Given the description of an element on the screen output the (x, y) to click on. 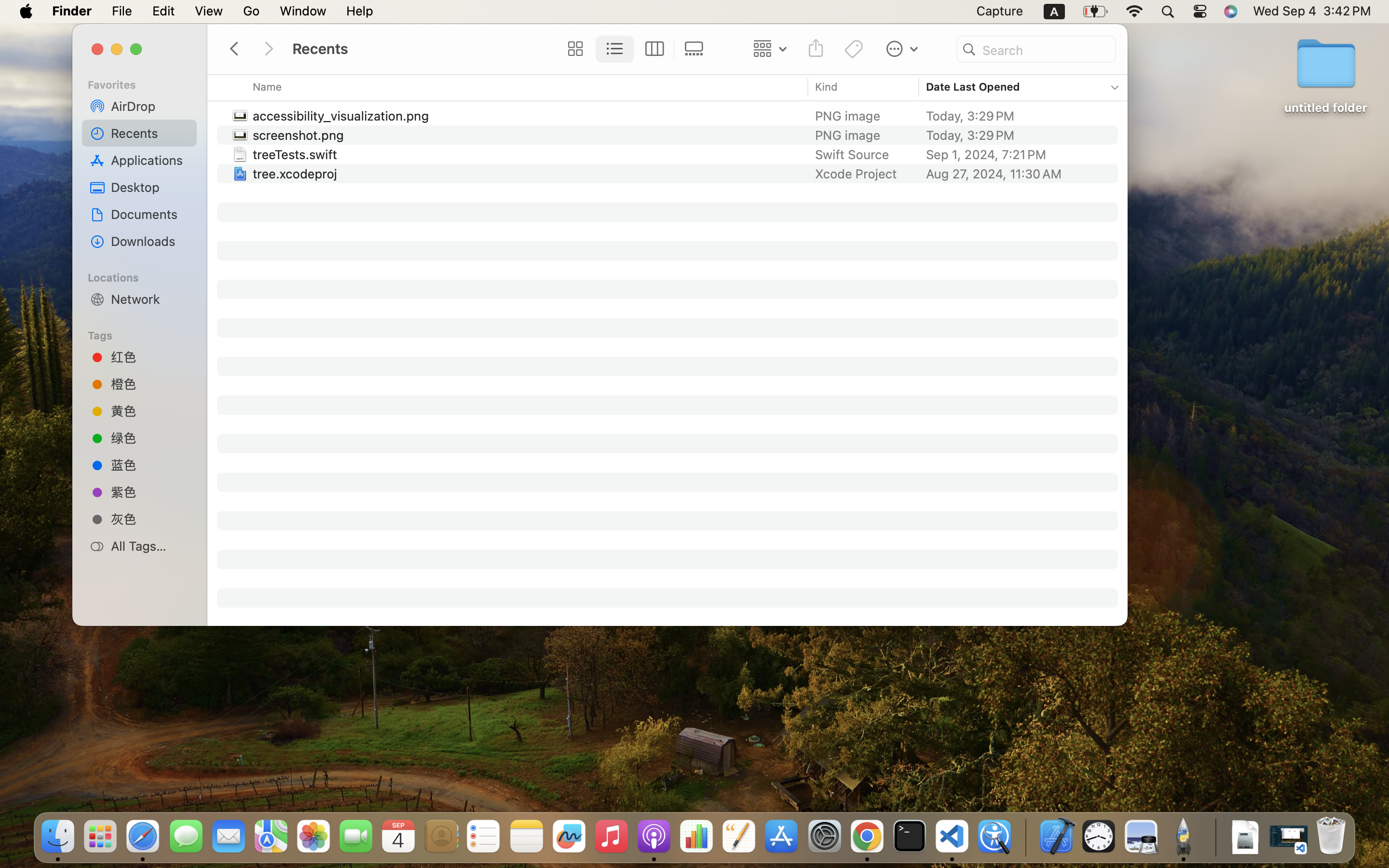
<AXUIElement 0x12af97af0> {pid=510} Element type: AXRadioGroup (633, 48)
0 Element type: AXRadioButton (572, 48)
Favorites Element type: AXStaticText (144, 83)
Downloads Element type: AXStaticText (149, 240)
Aug 27, 2024, 11:30 AM Element type: AXStaticText (1015, 173)
